Given the description of an element on the screen output the (x, y) to click on. 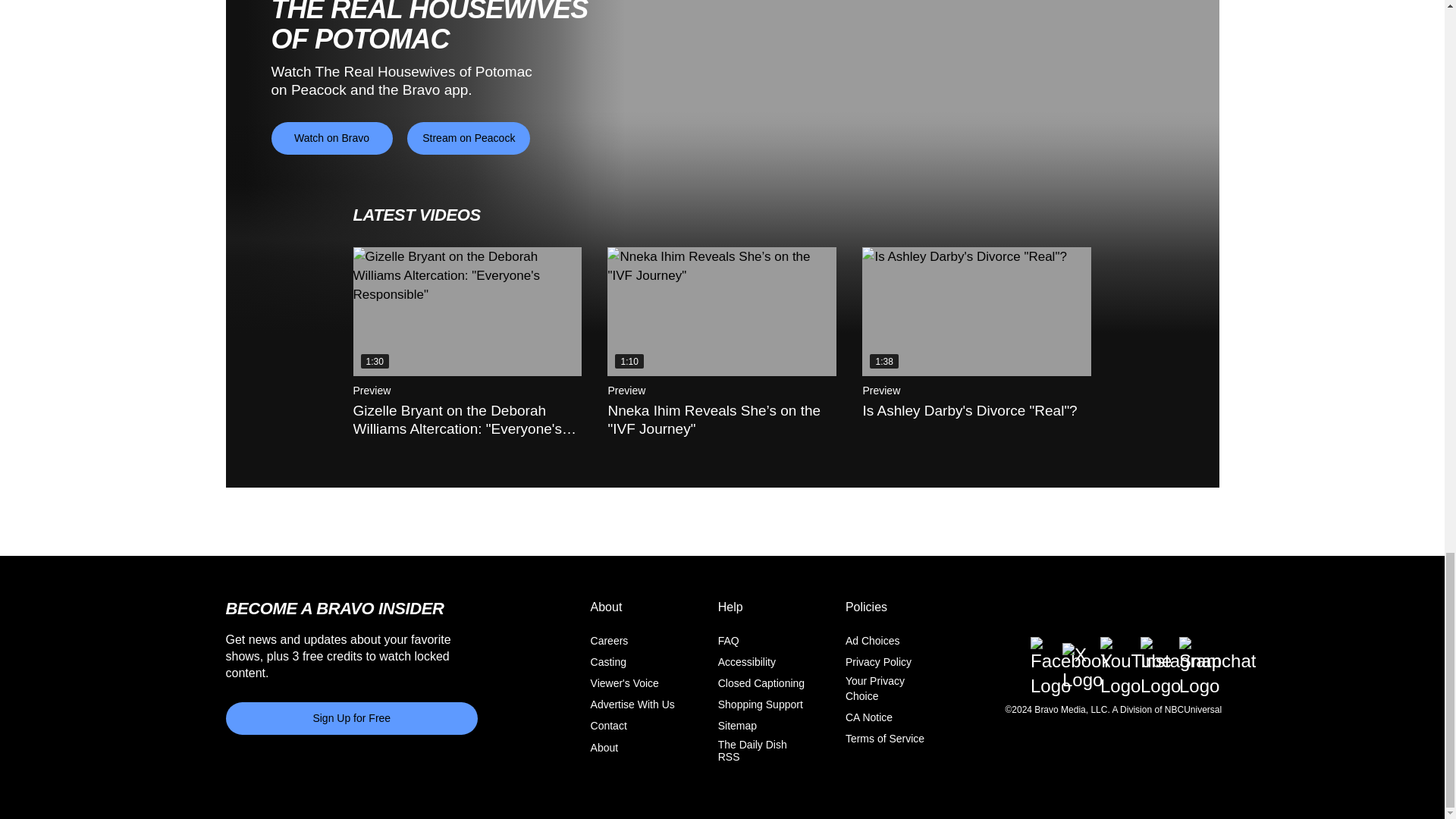
Is Ashley Darby's Divorce "Real"? (975, 311)
Advertise With Us (633, 704)
